Given the description of an element on the screen output the (x, y) to click on. 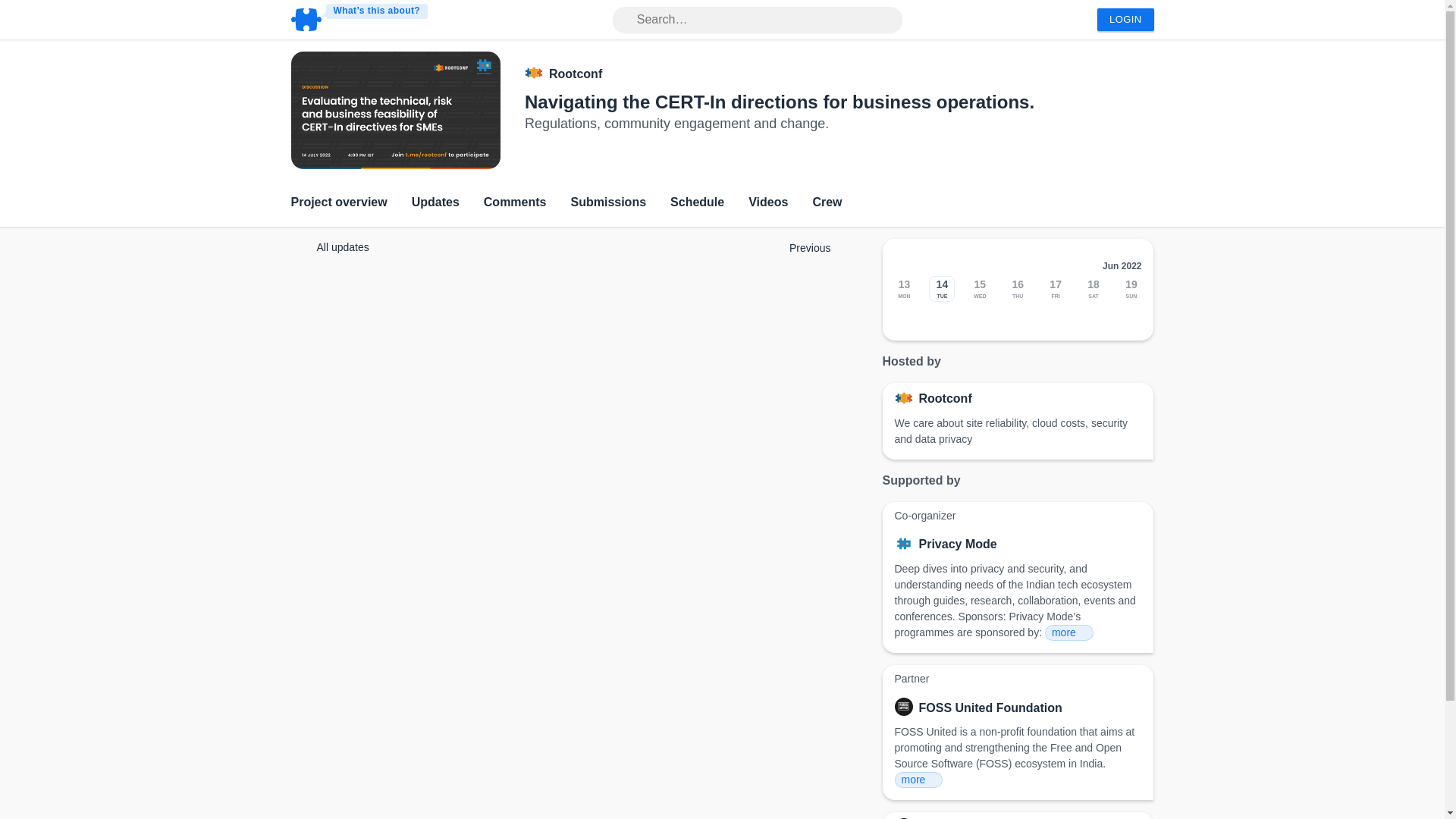
more (919, 779)
Project overview (339, 203)
LOGIN (1125, 19)
more (1069, 632)
Rootconf (945, 398)
Updates (436, 203)
Comments (515, 203)
FOSS United Foundation (990, 708)
Rootconf (575, 74)
Submissions (608, 203)
